Given the description of an element on the screen output the (x, y) to click on. 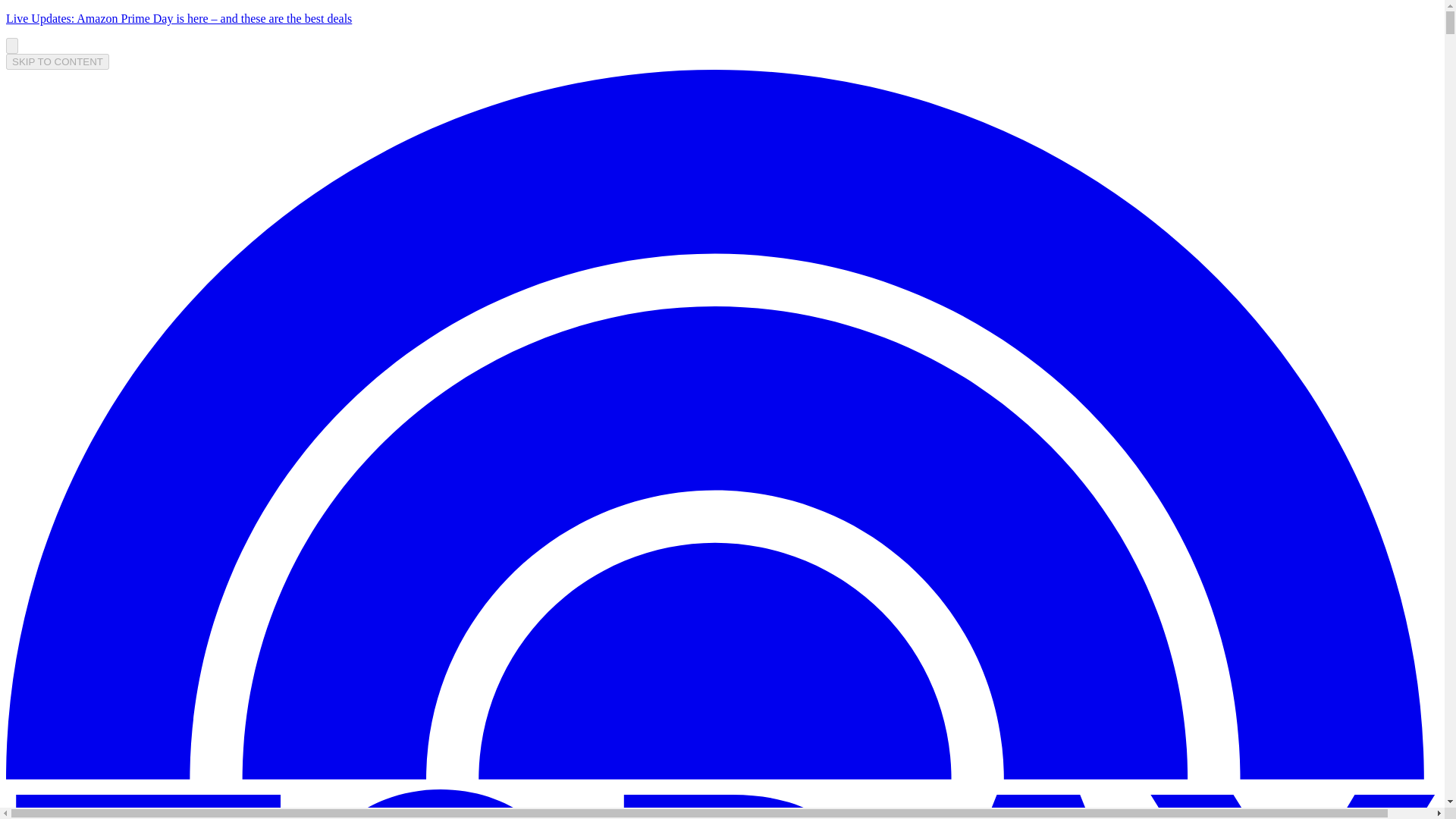
Today Logo (721, 803)
Today Logo (721, 796)
SKIP TO CONTENT (57, 61)
